Given the description of an element on the screen output the (x, y) to click on. 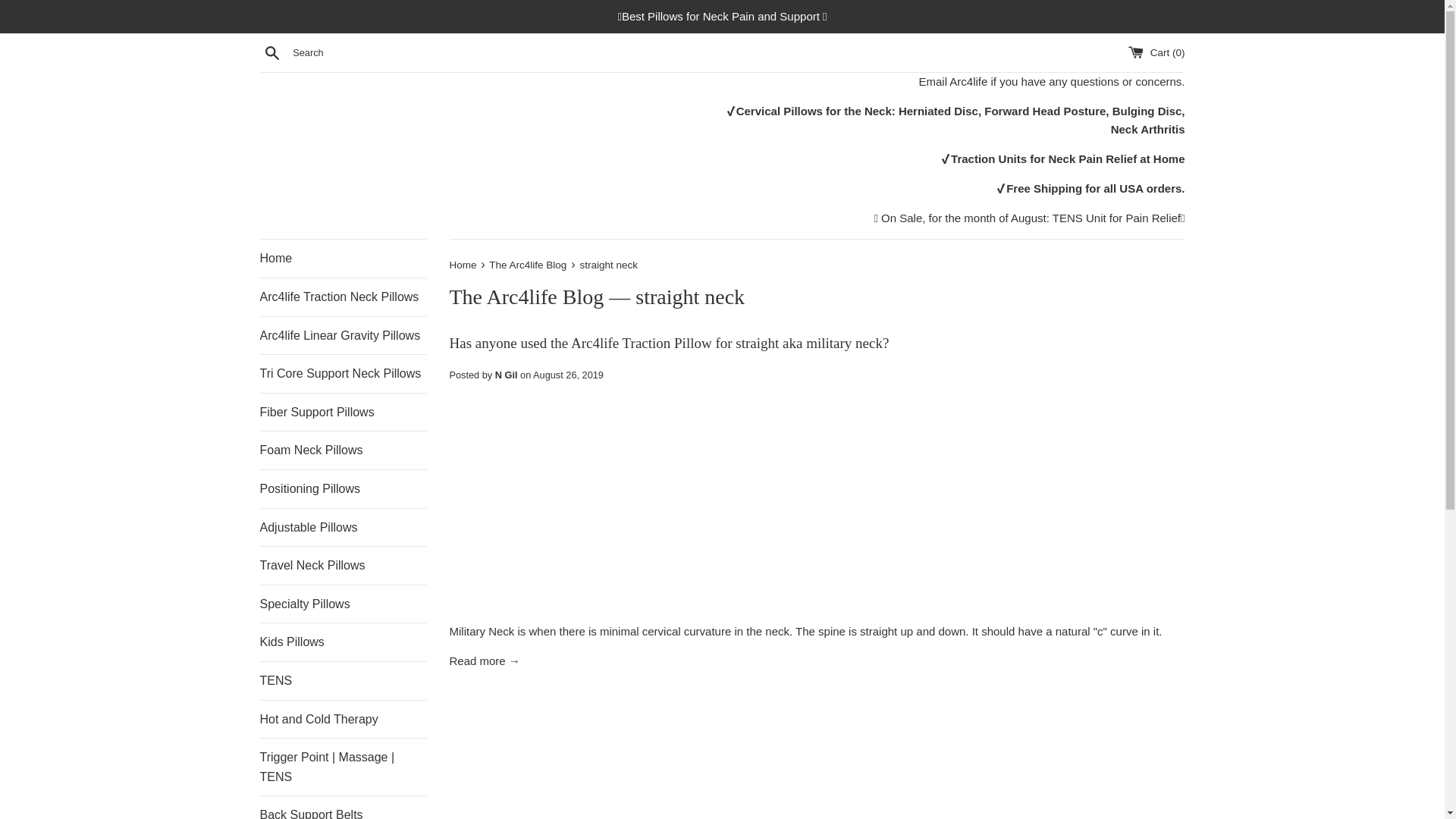
Ultima Tens 5 Portable Tens Electrotherapy Unit- Digital (1116, 217)
Arc4life Traction Neck Pillows (342, 297)
Fiber Support Pillows (342, 412)
Positioning Pillows (342, 488)
Back to the frontpage (463, 265)
The Arc4life Blog (529, 265)
The Arc4life Blog (526, 296)
Foam Neck Pillows (342, 450)
Arc4life Linear Gravity Pillows (342, 335)
Specialty Pillows (342, 604)
